Given the description of an element on the screen output the (x, y) to click on. 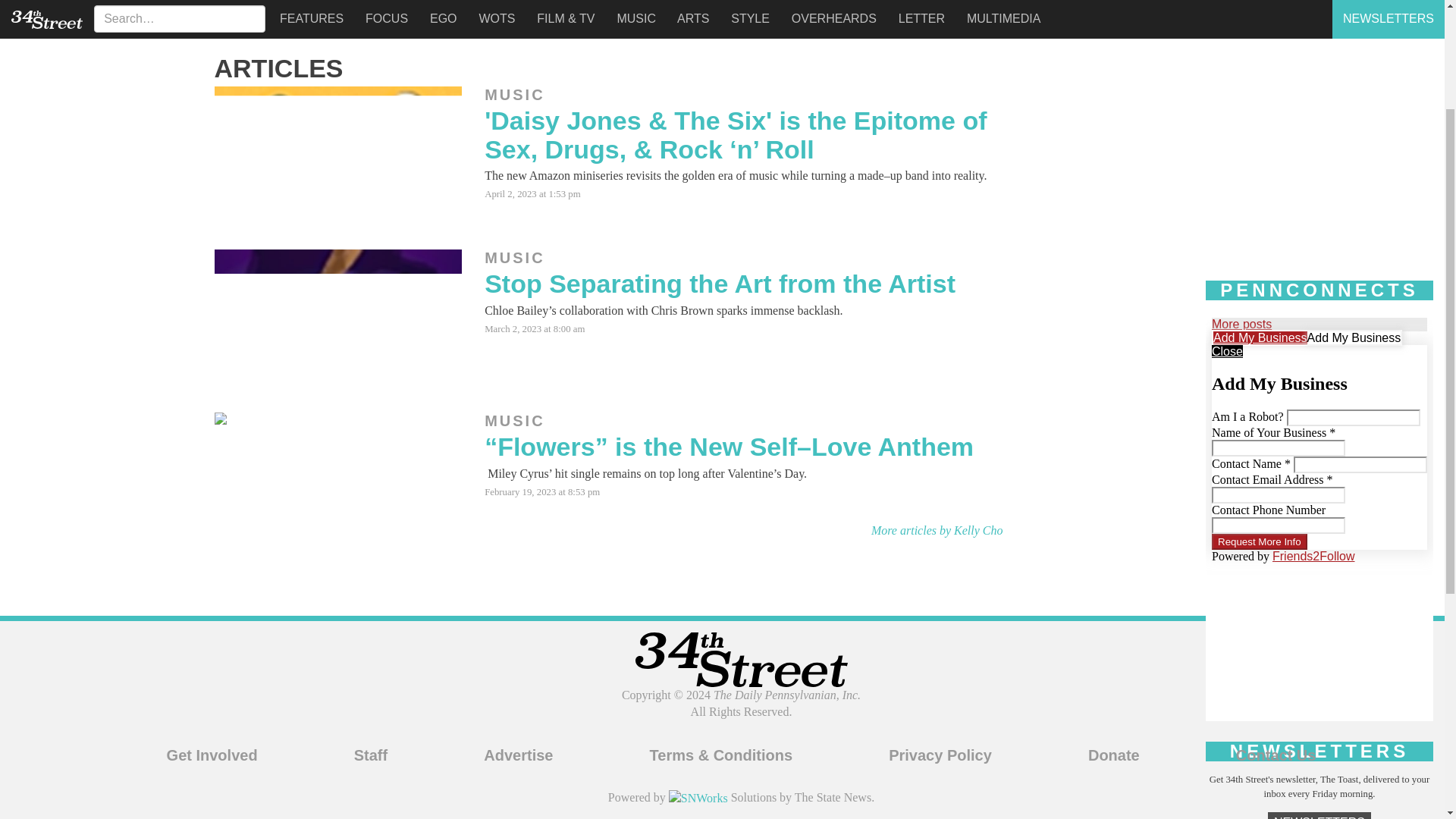
Privacy Policy (939, 754)
Staff (370, 754)
Contact Us (1276, 754)
More articles by Kelly Cho (936, 530)
Stop Separating the Art from the Artist (719, 283)
Advertise (518, 754)
Get Involved (212, 754)
Donate (1113, 754)
